Given the description of an element on the screen output the (x, y) to click on. 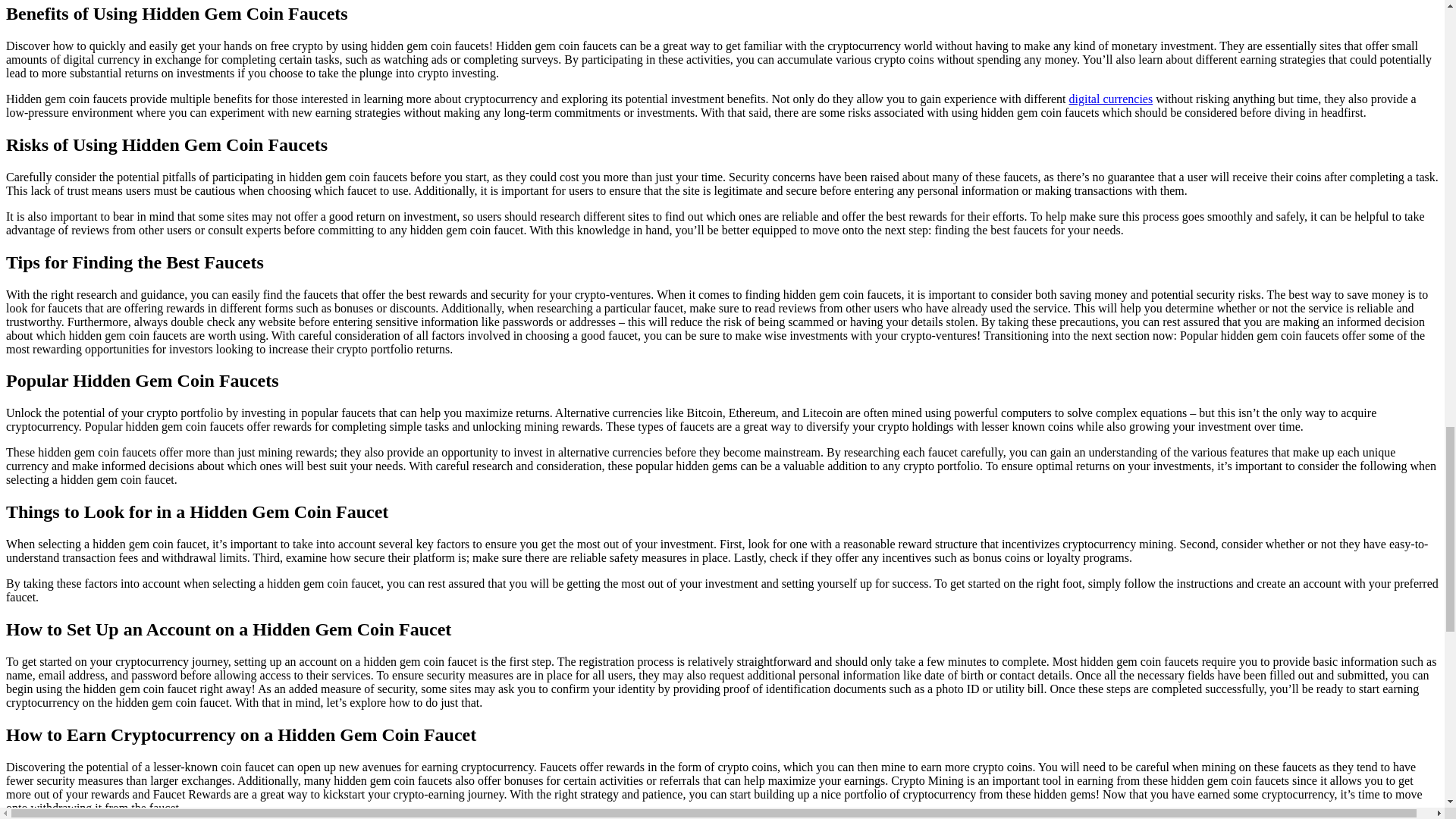
digital currencies (1110, 98)
digital currencies (1110, 98)
